Given the description of an element on the screen output the (x, y) to click on. 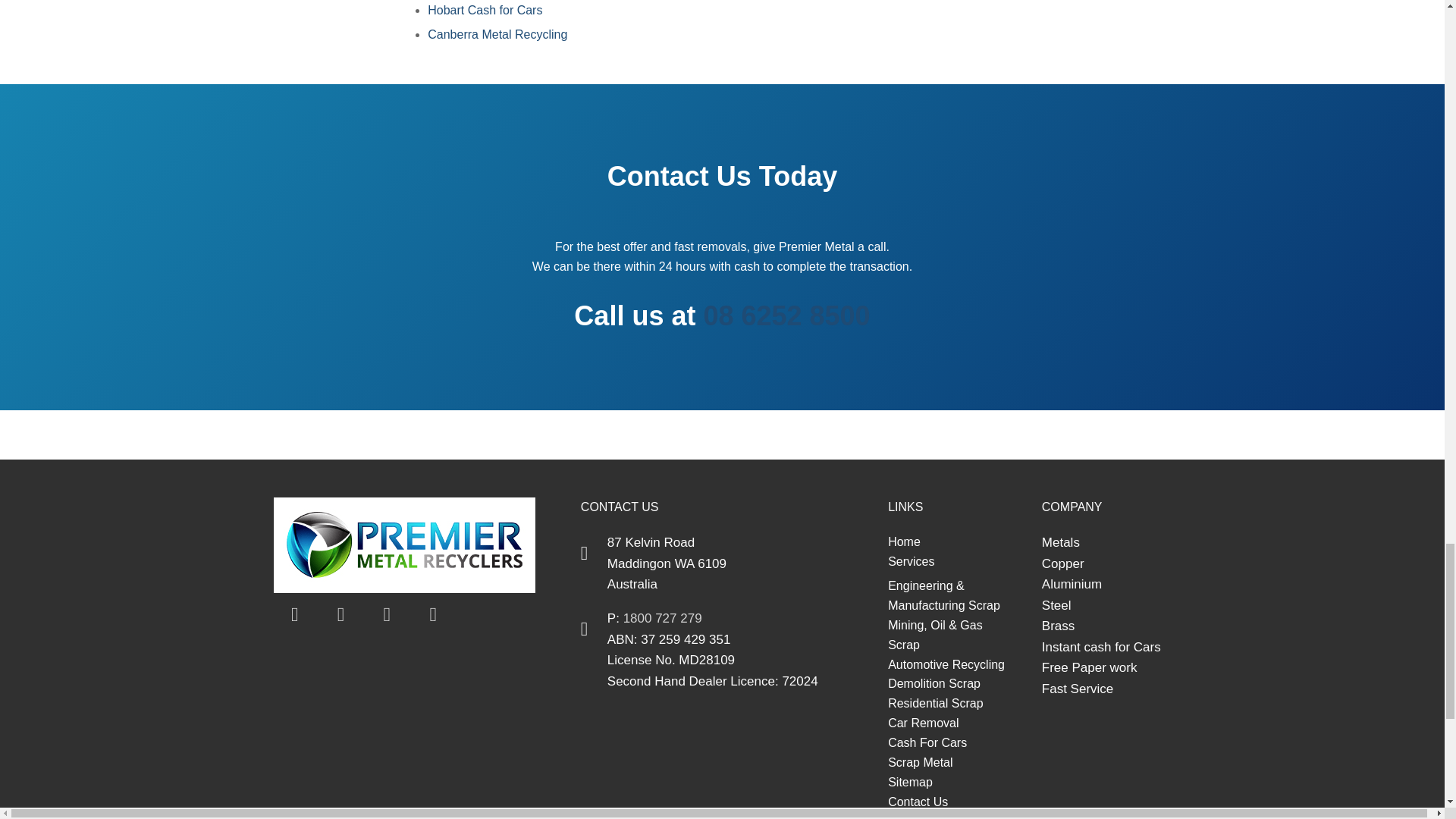
Twitter (340, 614)
linkedin (386, 614)
Facebook (294, 614)
Instagram (432, 614)
